Given the description of an element on the screen output the (x, y) to click on. 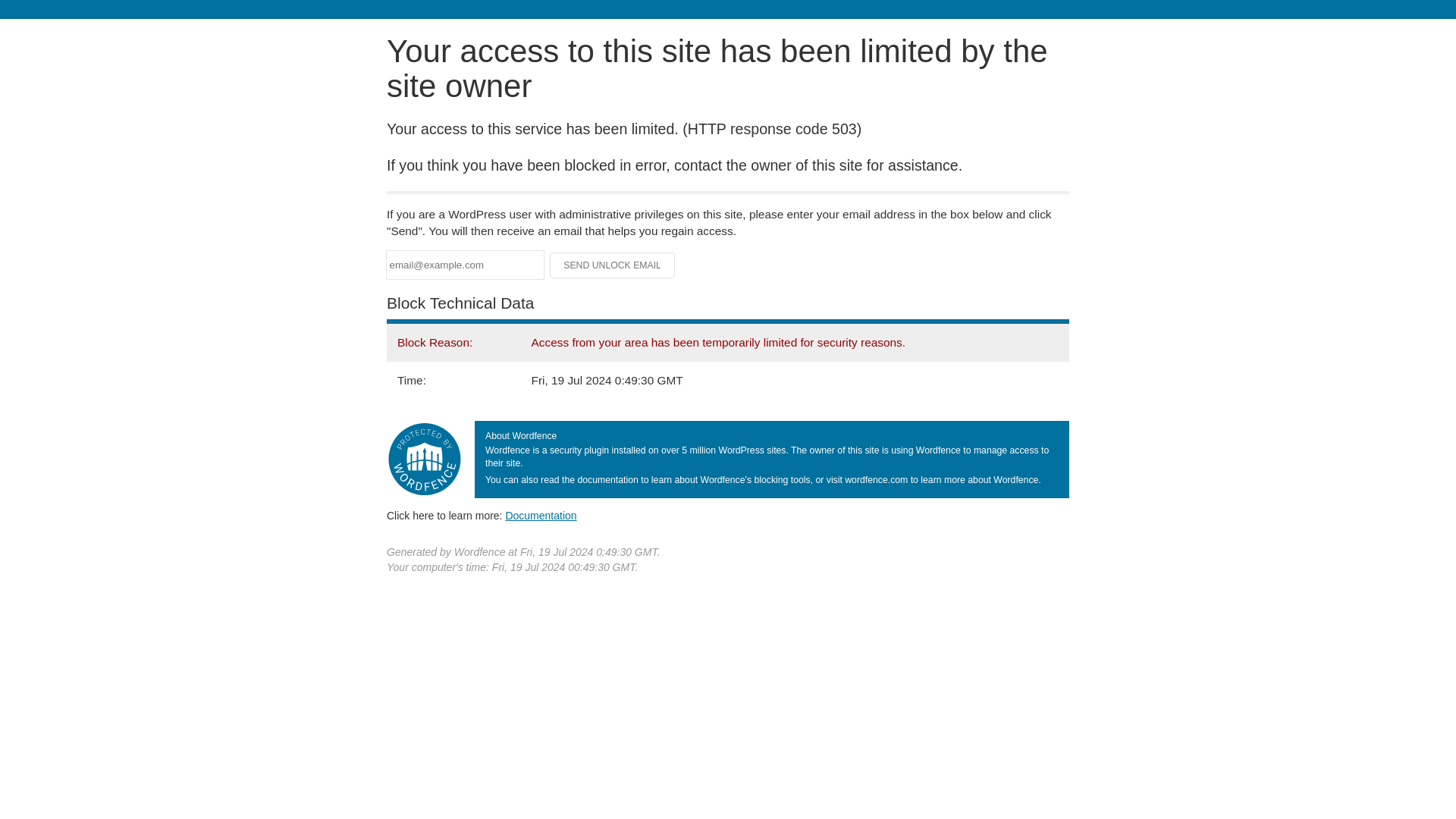
Documentation (540, 515)
Send Unlock Email (612, 265)
Send Unlock Email (612, 265)
